Given the description of an element on the screen output the (x, y) to click on. 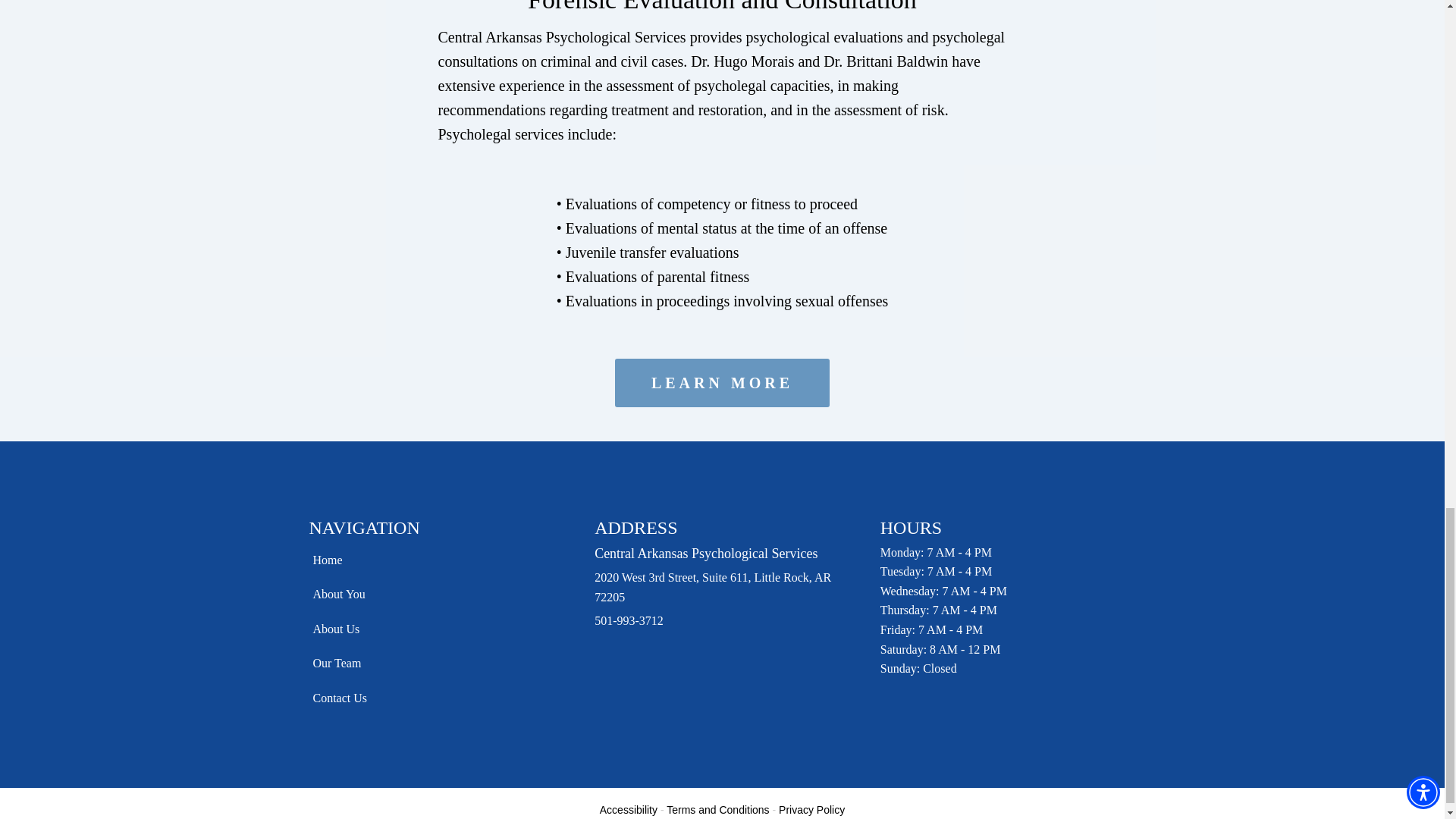
About You (345, 594)
Accessibility (628, 809)
Terms and Conditions (717, 809)
Privacy Policy (811, 809)
LEARN MORE (721, 382)
501-993-3712 (628, 620)
About Us (345, 629)
Our Team (345, 663)
Contact Us (345, 697)
Home (345, 560)
